Given the description of an element on the screen output the (x, y) to click on. 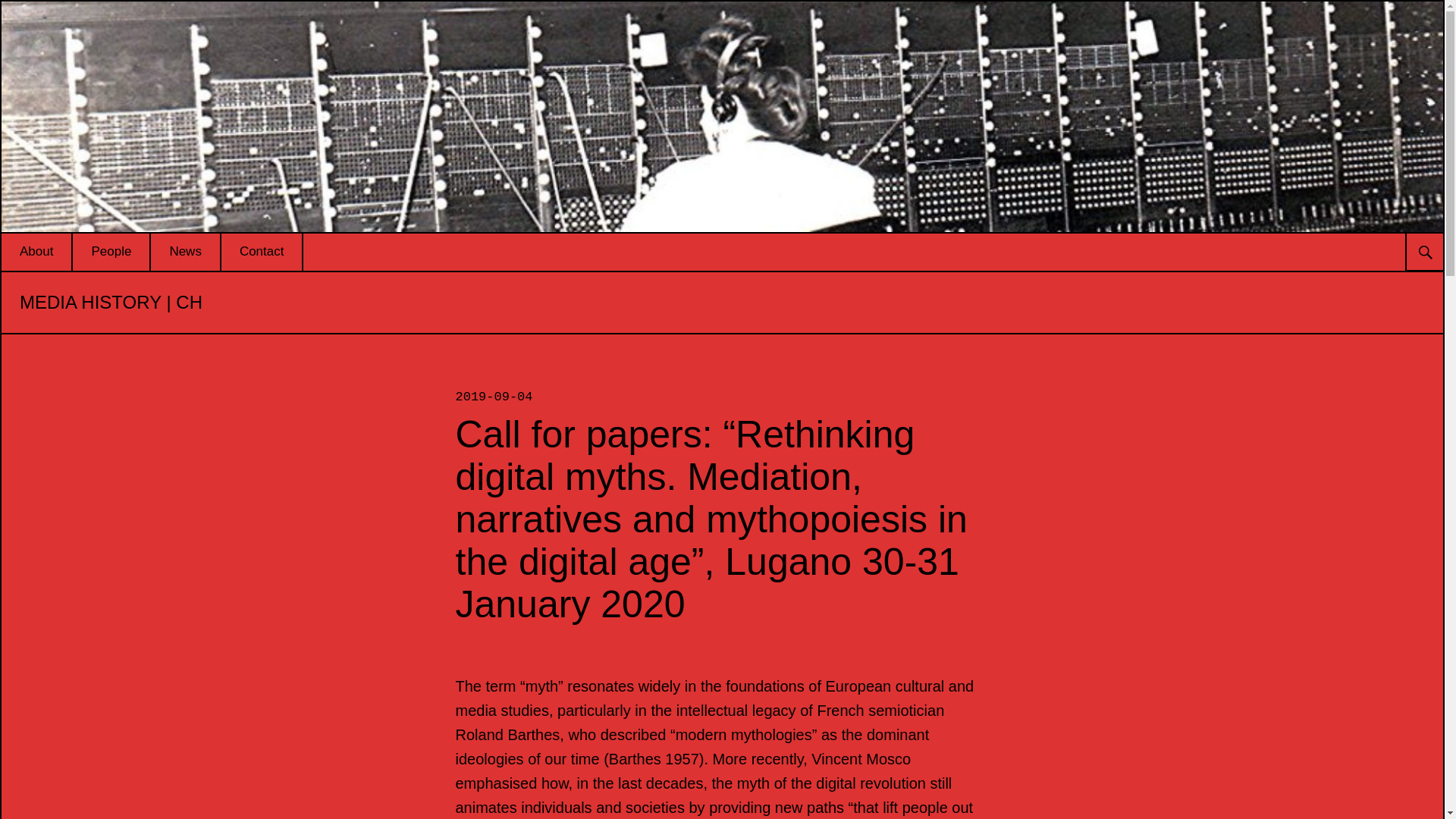
About (36, 252)
Contact (261, 252)
News (185, 252)
People (110, 252)
2019-09-04 (493, 396)
